Given the description of an element on the screen output the (x, y) to click on. 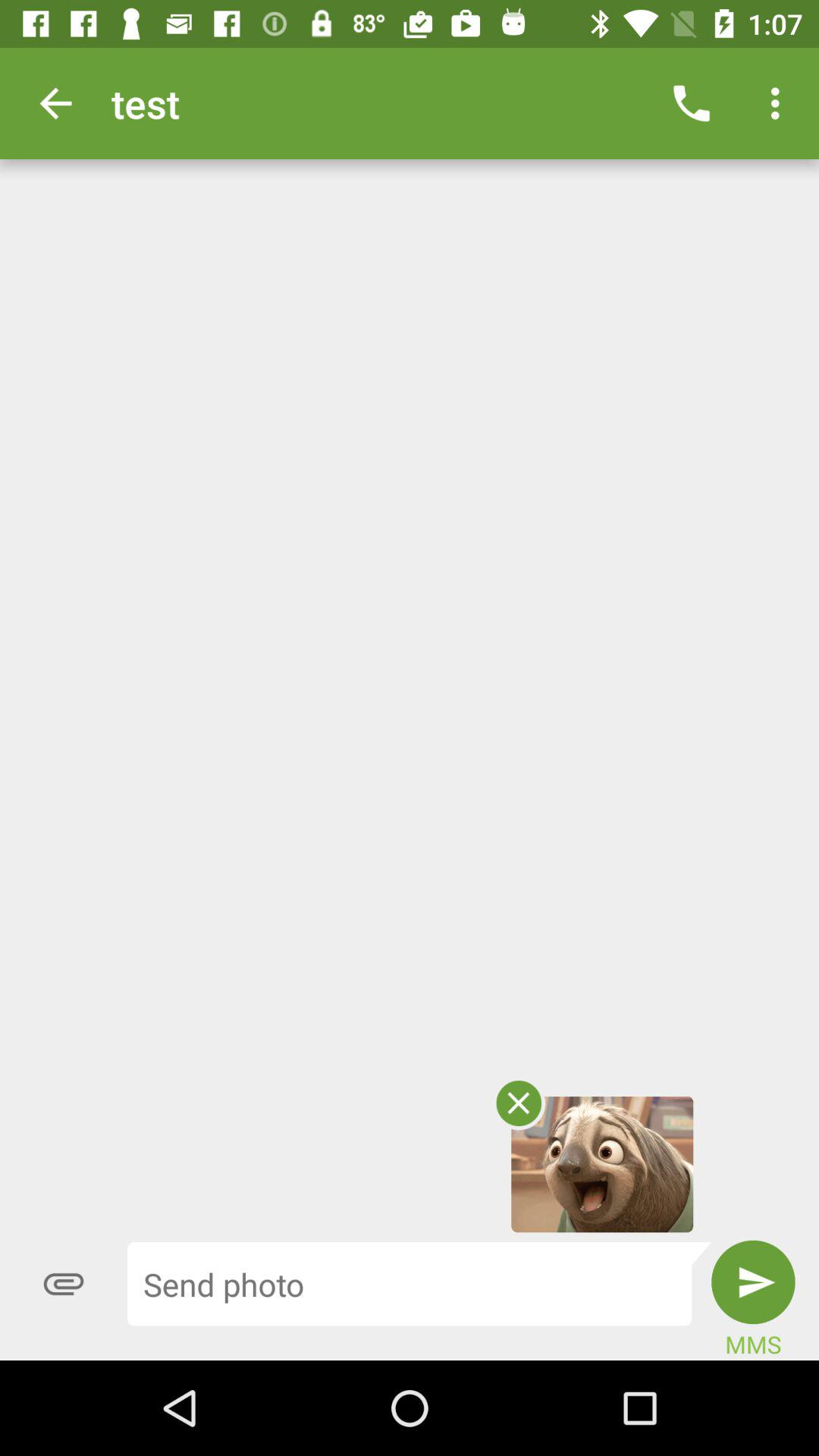
open item to the left of test icon (55, 103)
